Given the description of an element on the screen output the (x, y) to click on. 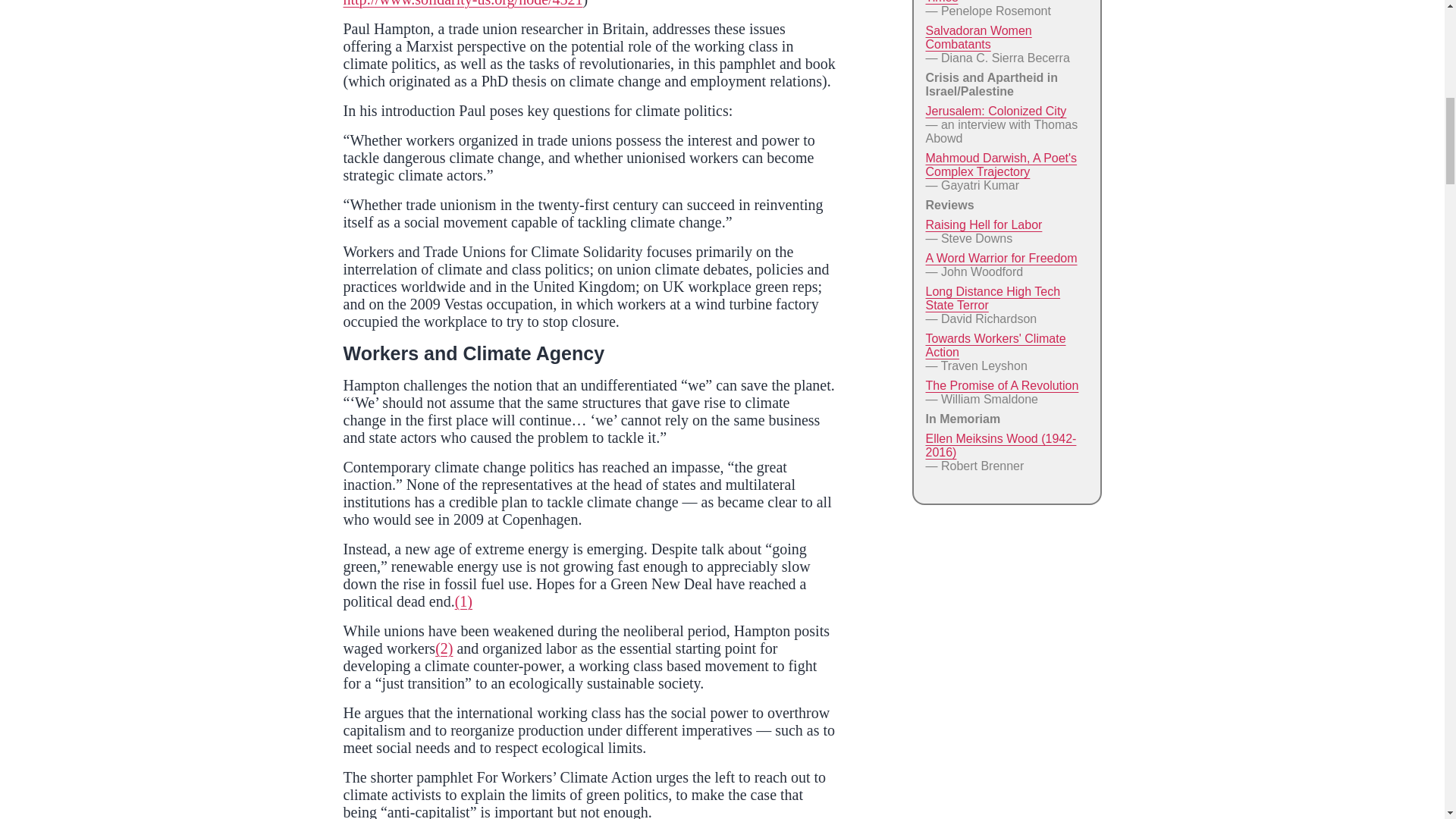
Raising Hell for Labor (983, 224)
Towards Workers' Climate Action (994, 345)
Salvadoran Women Combatants (977, 37)
Mahmoud Darwish, A Poet's Complex Trajectory (1000, 164)
The Promise of A Revolution (1001, 385)
A Word Warrior for Freedom (1000, 257)
Women of Dada and Their Times (995, 2)
Long Distance High Tech State Terror (991, 298)
Jerusalem: Colonized City (994, 110)
